Given the description of an element on the screen output the (x, y) to click on. 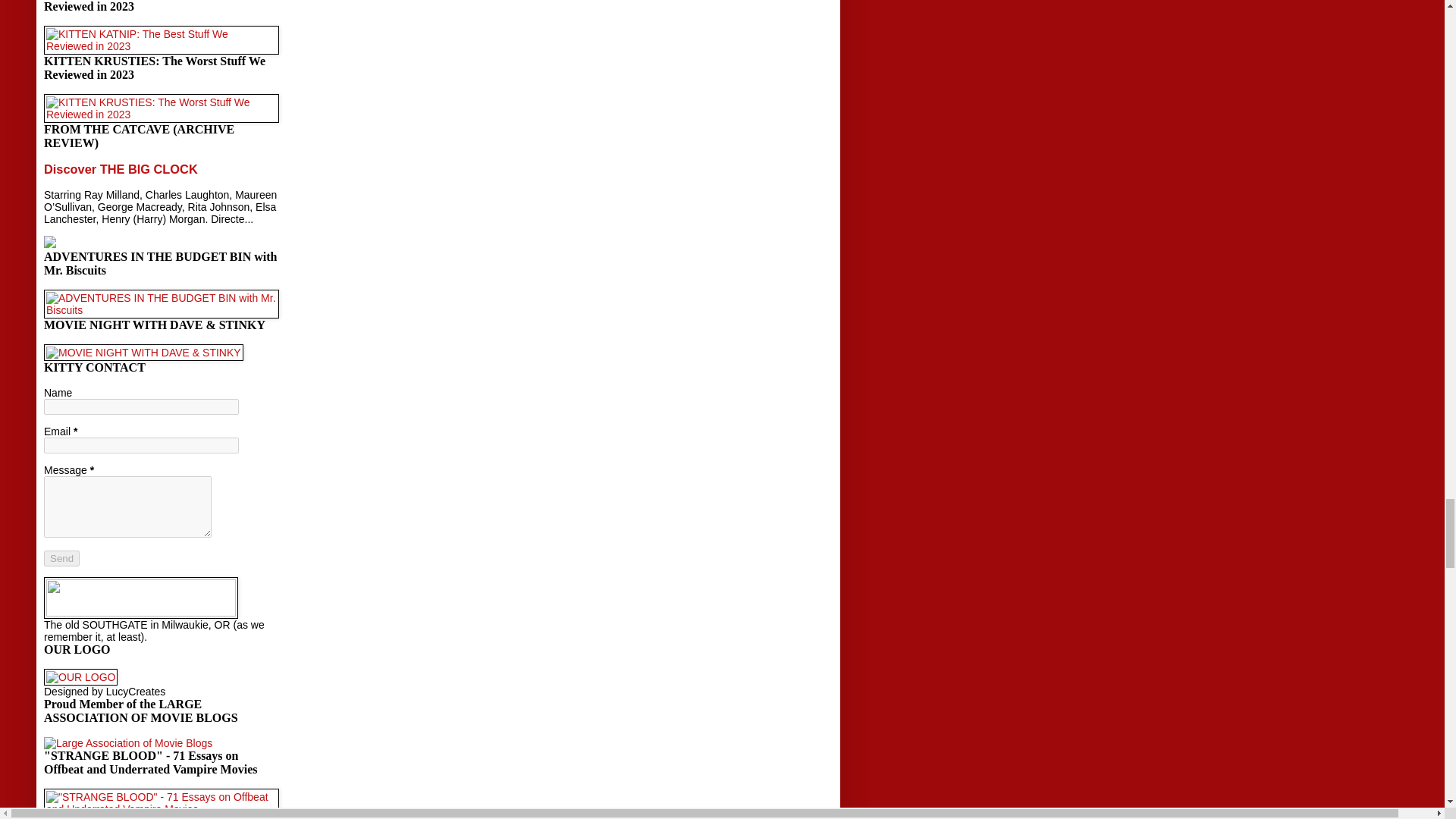
Send (61, 558)
